Given the description of an element on the screen output the (x, y) to click on. 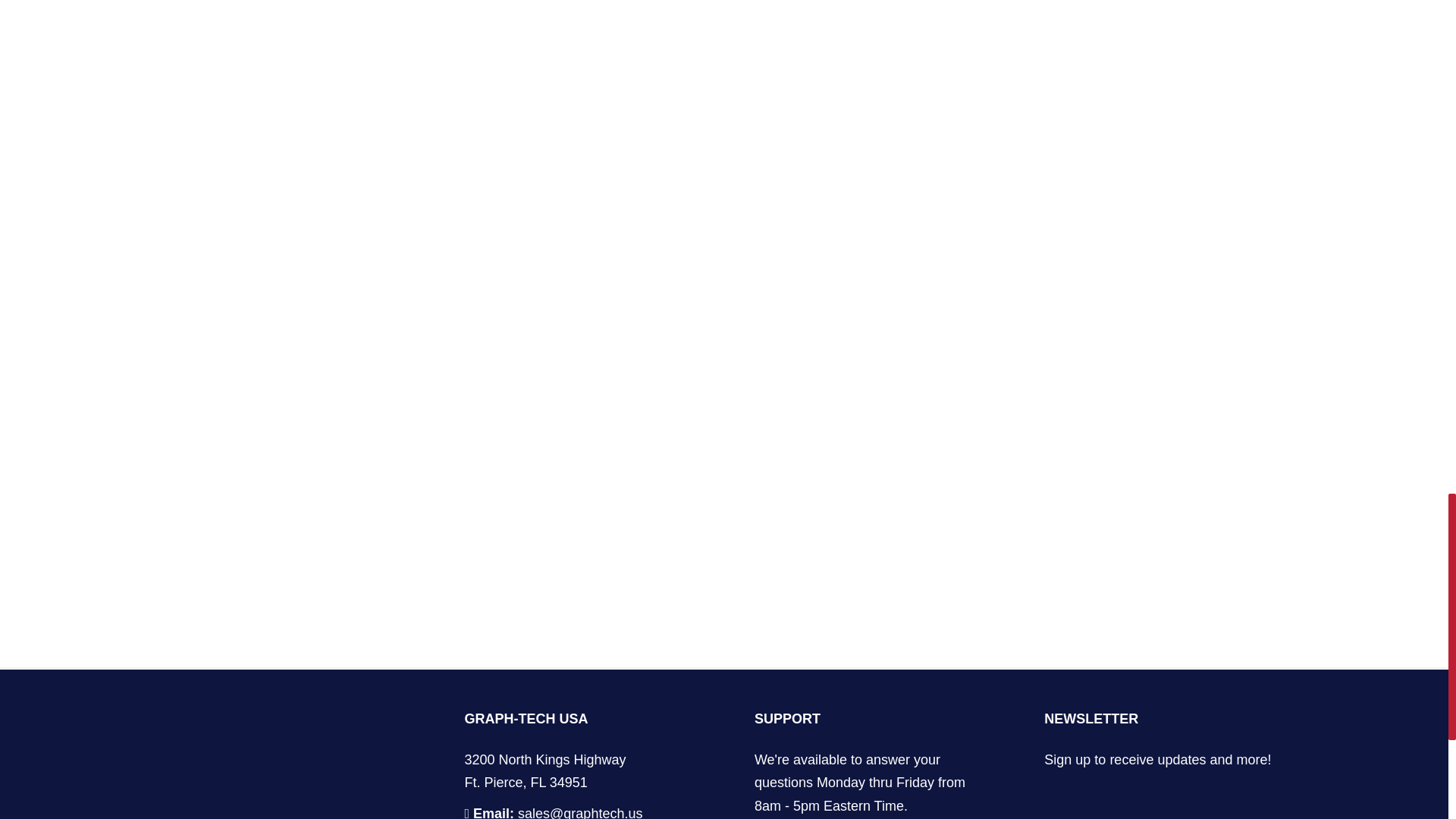
Graph-Tech-Logo (288, 803)
